Given the description of an element on the screen output the (x, y) to click on. 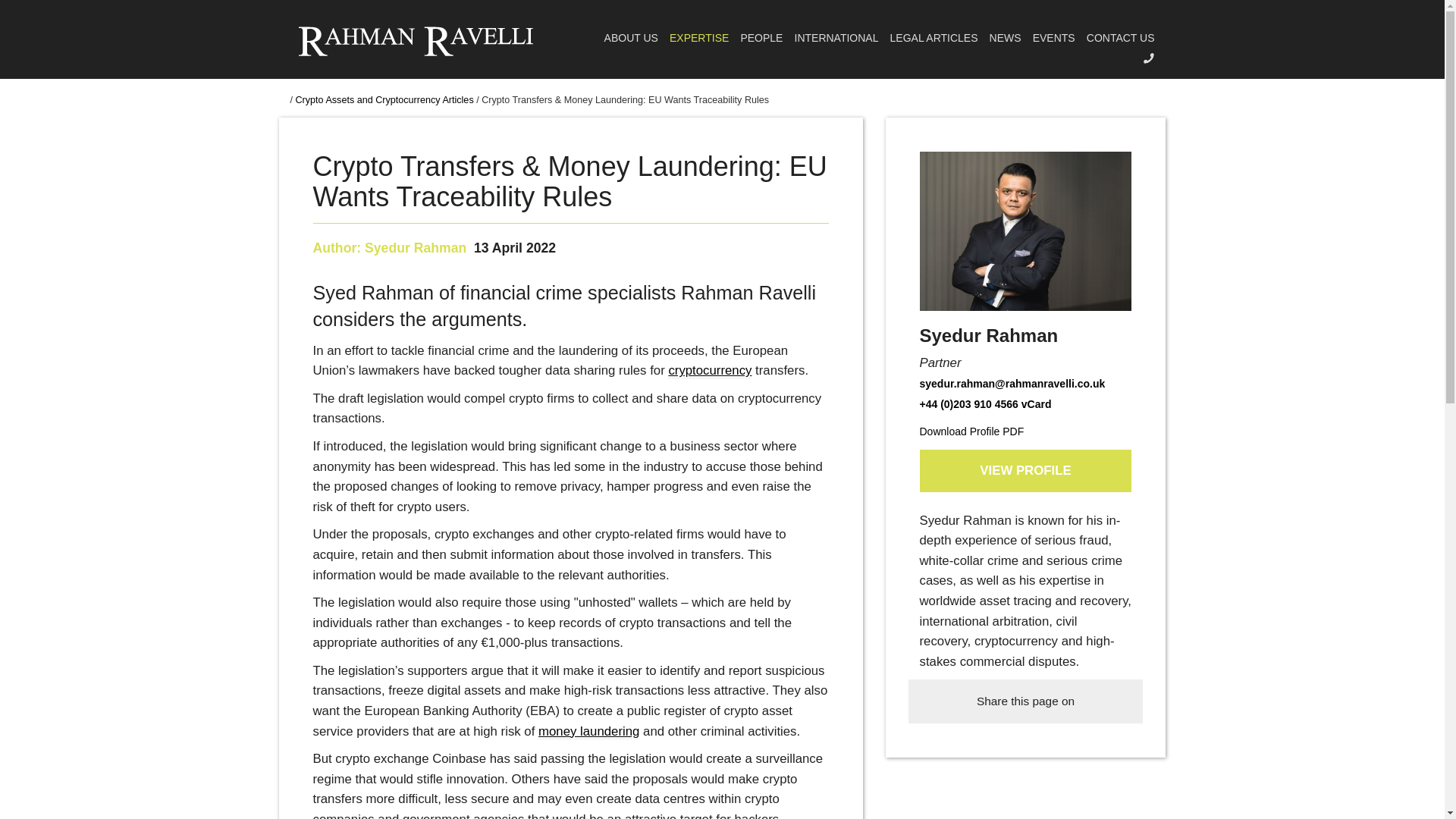
Read more about Cryptoassets and investigations (709, 370)
View Syedur Rahman's Profile (415, 247)
Read more ab out Anti-money Laundering investigations (588, 731)
